Given the description of an element on the screen output the (x, y) to click on. 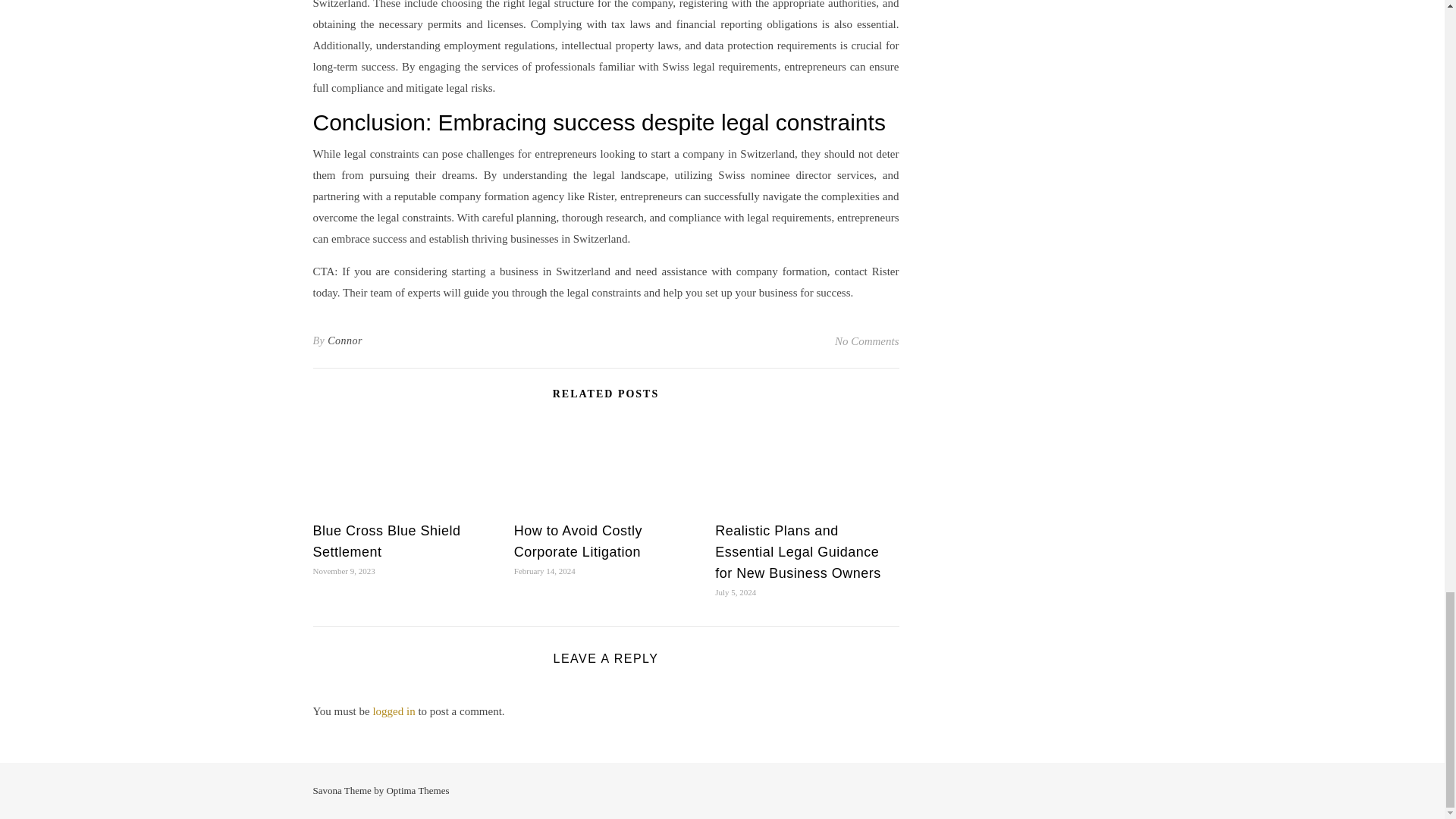
How to Avoid Costly Corporate Litigation (577, 541)
logged in (393, 711)
Connor (344, 341)
Blue Cross Blue Shield Settlement (386, 541)
No Comments (866, 341)
Posts by Connor (344, 341)
